Given the description of an element on the screen output the (x, y) to click on. 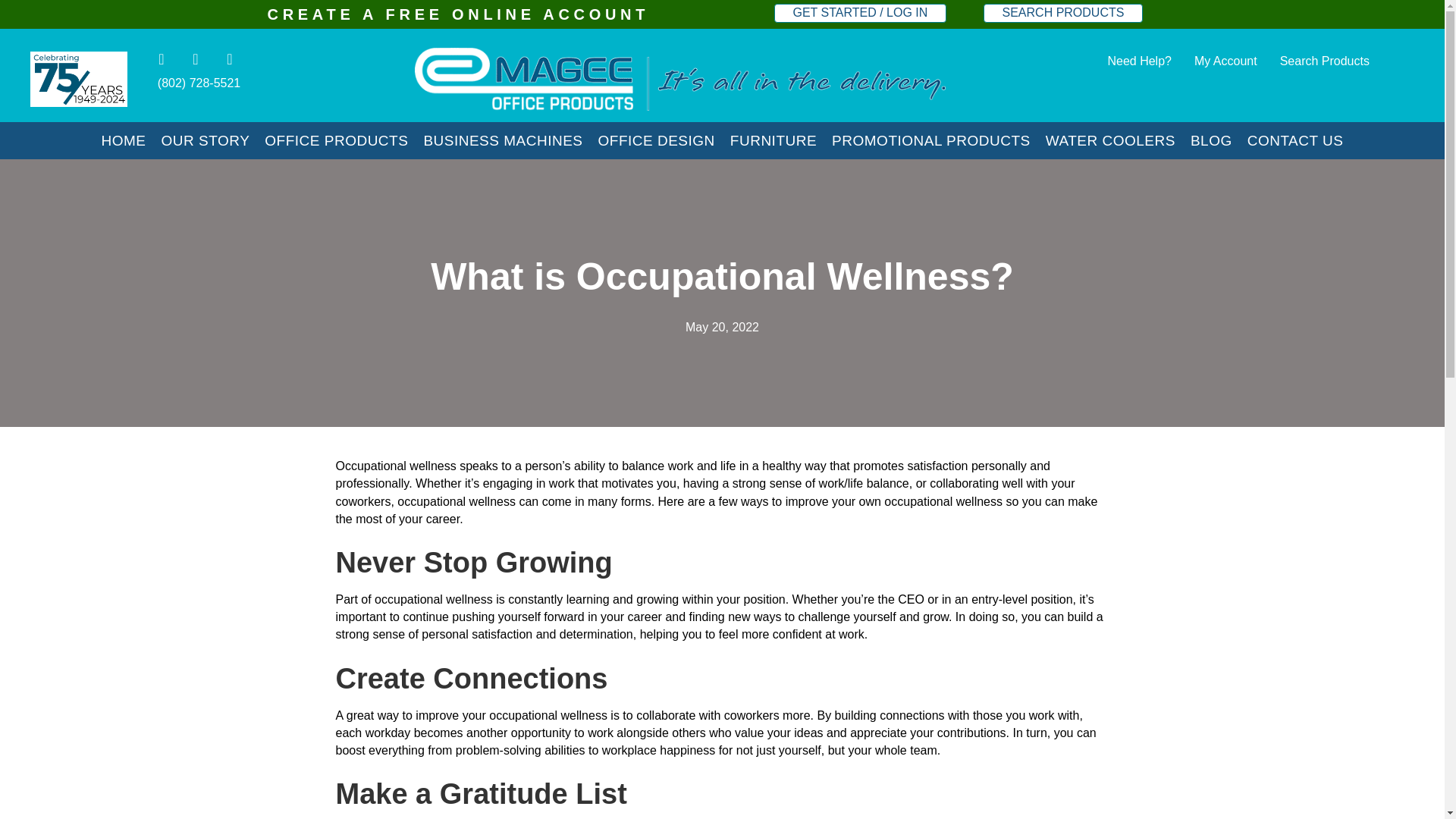
HOME (123, 140)
800 horz logo (679, 78)
OUR STORY (205, 140)
Search Products (1324, 61)
CREATE A FREE ONLINE ACCOUNT (457, 13)
BUSINESS MACHINES (502, 140)
OFFICE PRODUCTS (336, 140)
Need Help? (1139, 61)
CREATE A FREE ONLINE ACCOUNT (457, 13)
75slash (79, 79)
OFFICE DESIGN (656, 140)
SEARCH PRODUCTS (1062, 13)
My Account (1225, 61)
